Given the description of an element on the screen output the (x, y) to click on. 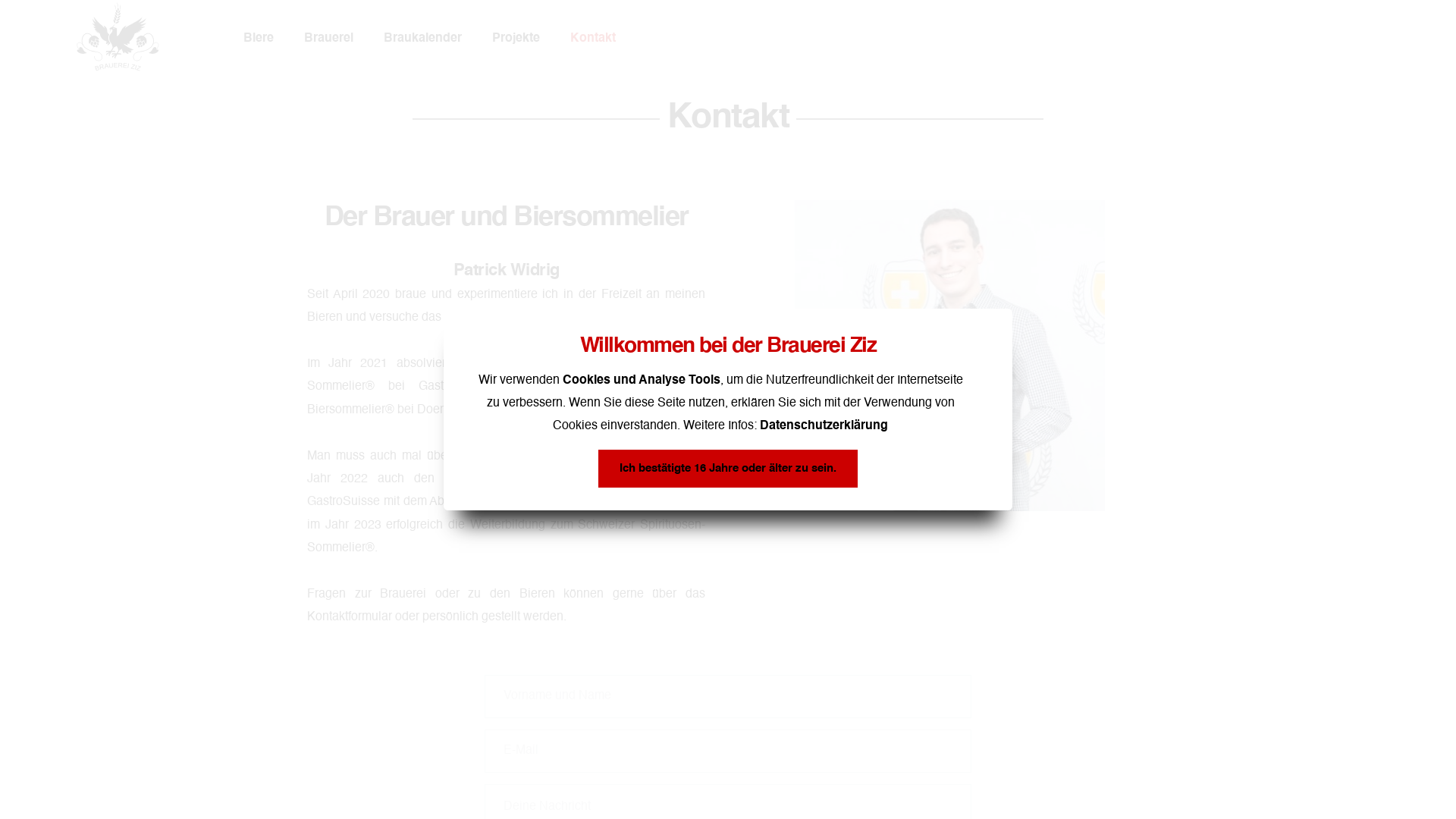
Biere Element type: text (258, 38)
Projekte Element type: text (515, 38)
Braukalender Element type: text (422, 38)
Kontakt Element type: text (592, 38)
Brauerei Element type: text (328, 38)
